Given the description of an element on the screen output the (x, y) to click on. 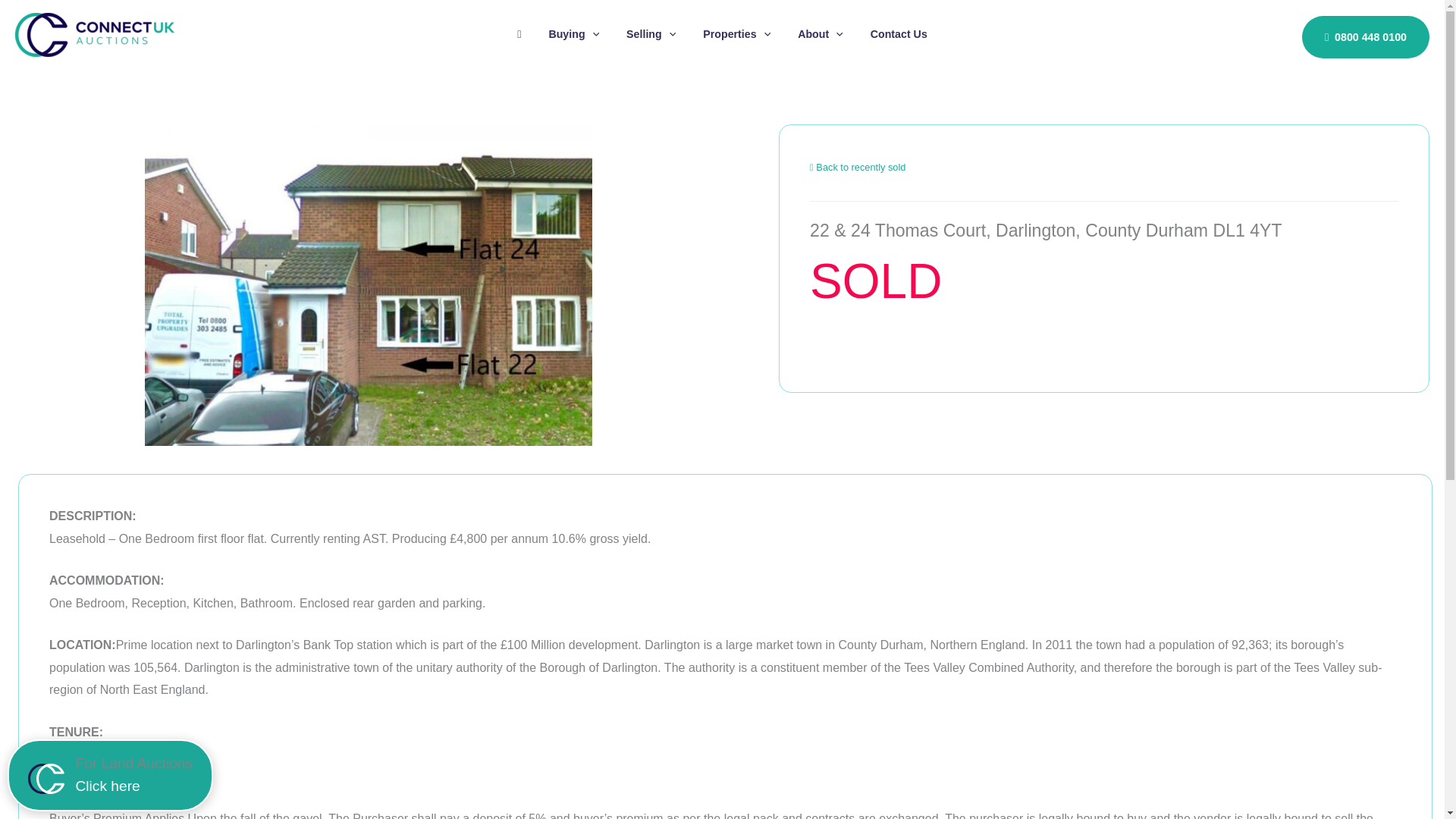
Buying (573, 34)
Contact Us (898, 34)
  0800 448 0100 (1365, 36)
Selling (650, 34)
Properties (736, 34)
About (820, 34)
